Given the description of an element on the screen output the (x, y) to click on. 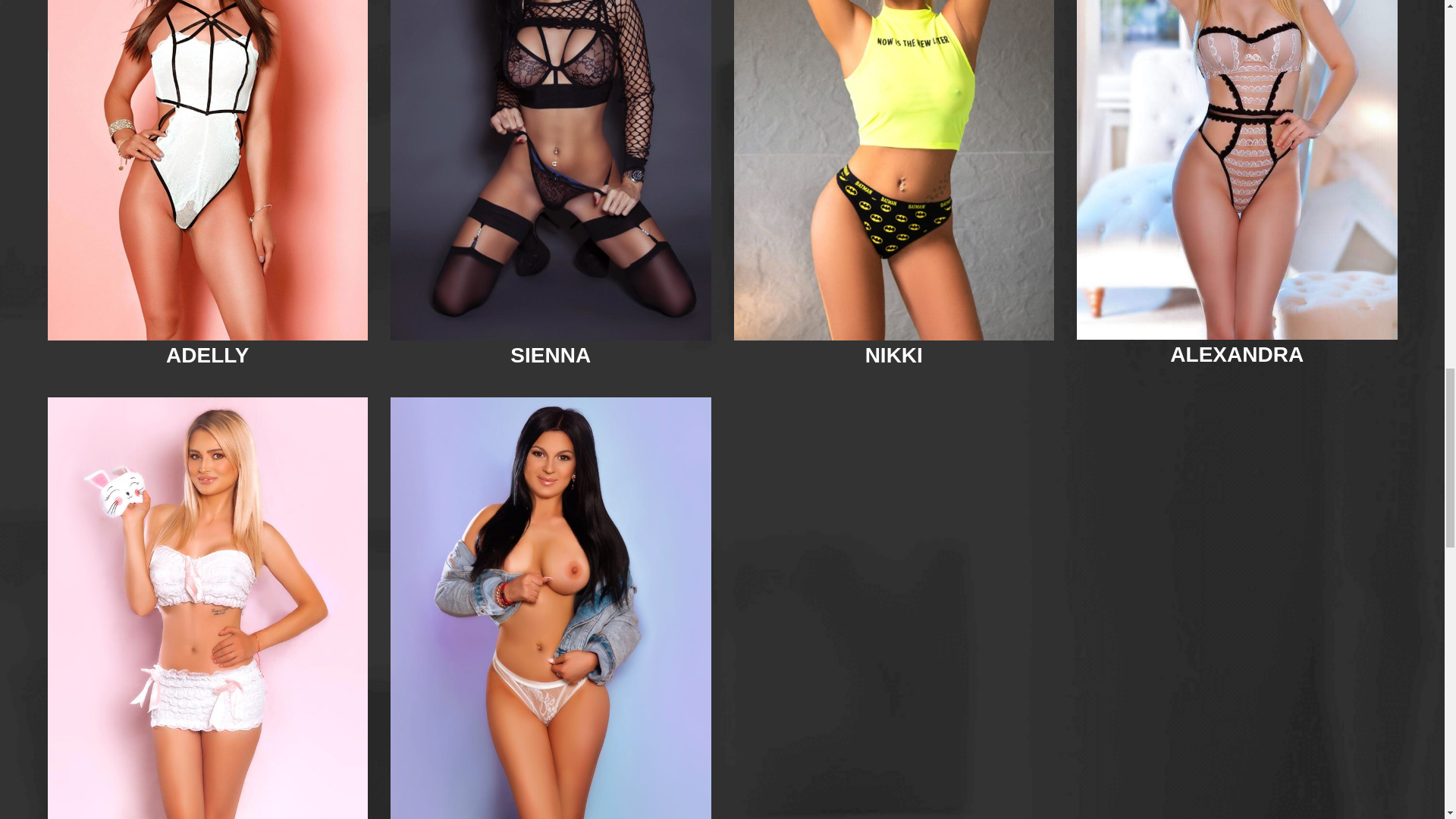
ALEXANDRA (1236, 354)
NIKKI (893, 354)
SIENNA (551, 354)
ADELLY (206, 354)
